Given the description of an element on the screen output the (x, y) to click on. 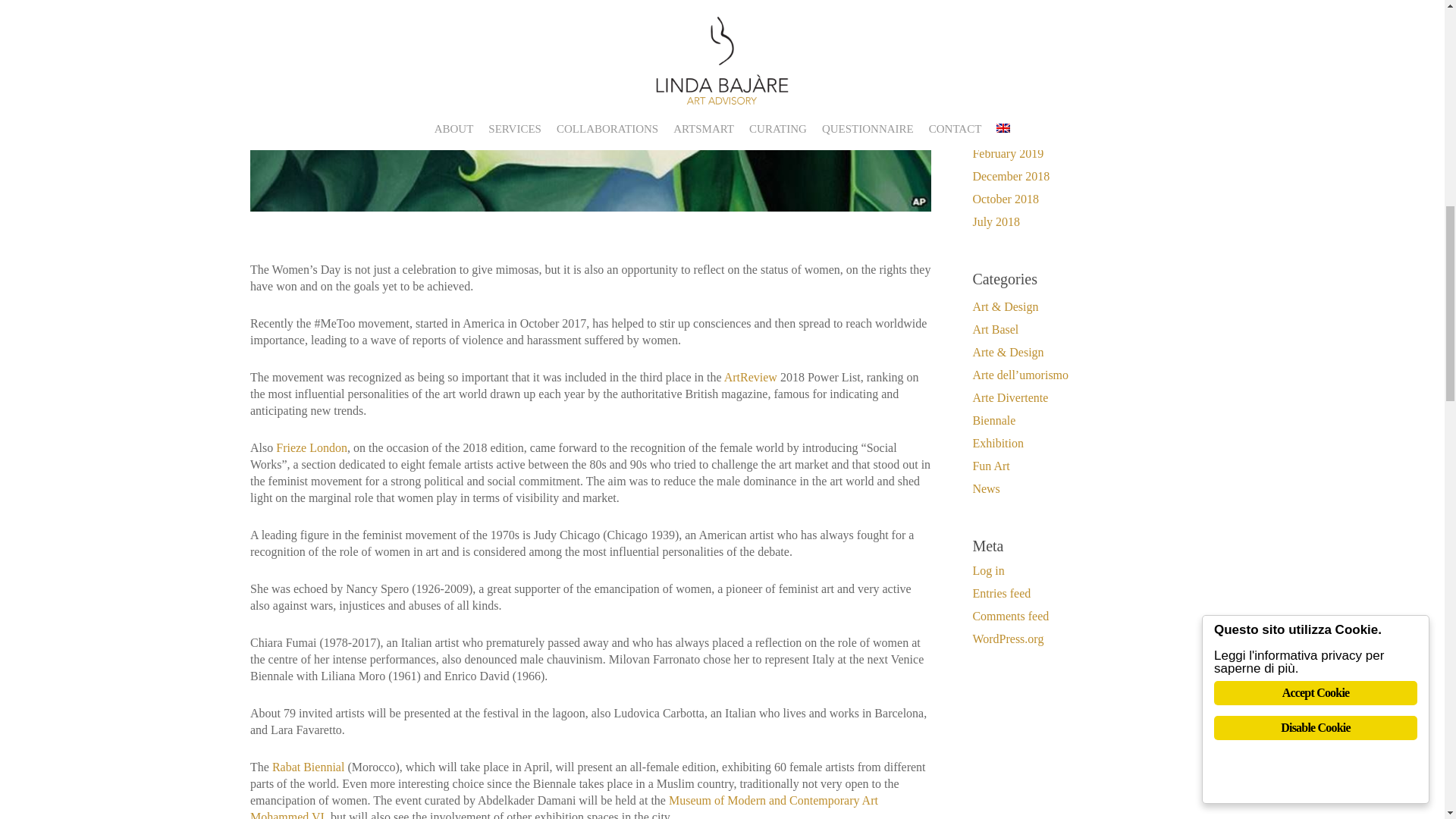
Frieze London (311, 447)
Museum of Modern and Contemporary Art Mohammed VI (563, 806)
Rabat Biennial (308, 766)
June 2019 (1082, 62)
September 2019 (1082, 17)
ArtReview (750, 377)
October 2019 (1082, 1)
July 2019 (1082, 39)
